Given the description of an element on the screen output the (x, y) to click on. 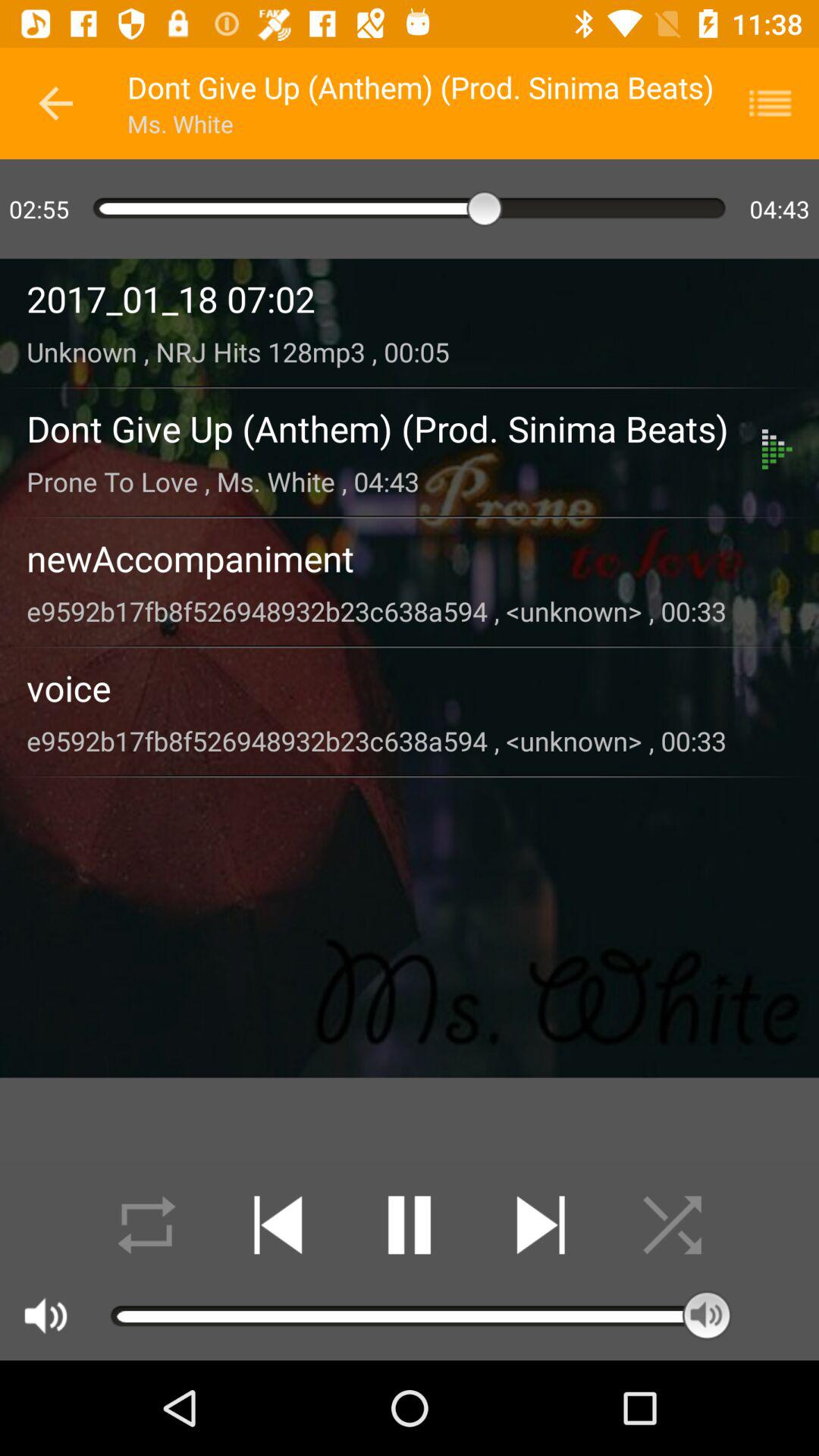
press the icon to the left of dont give up (55, 103)
